Given the description of an element on the screen output the (x, y) to click on. 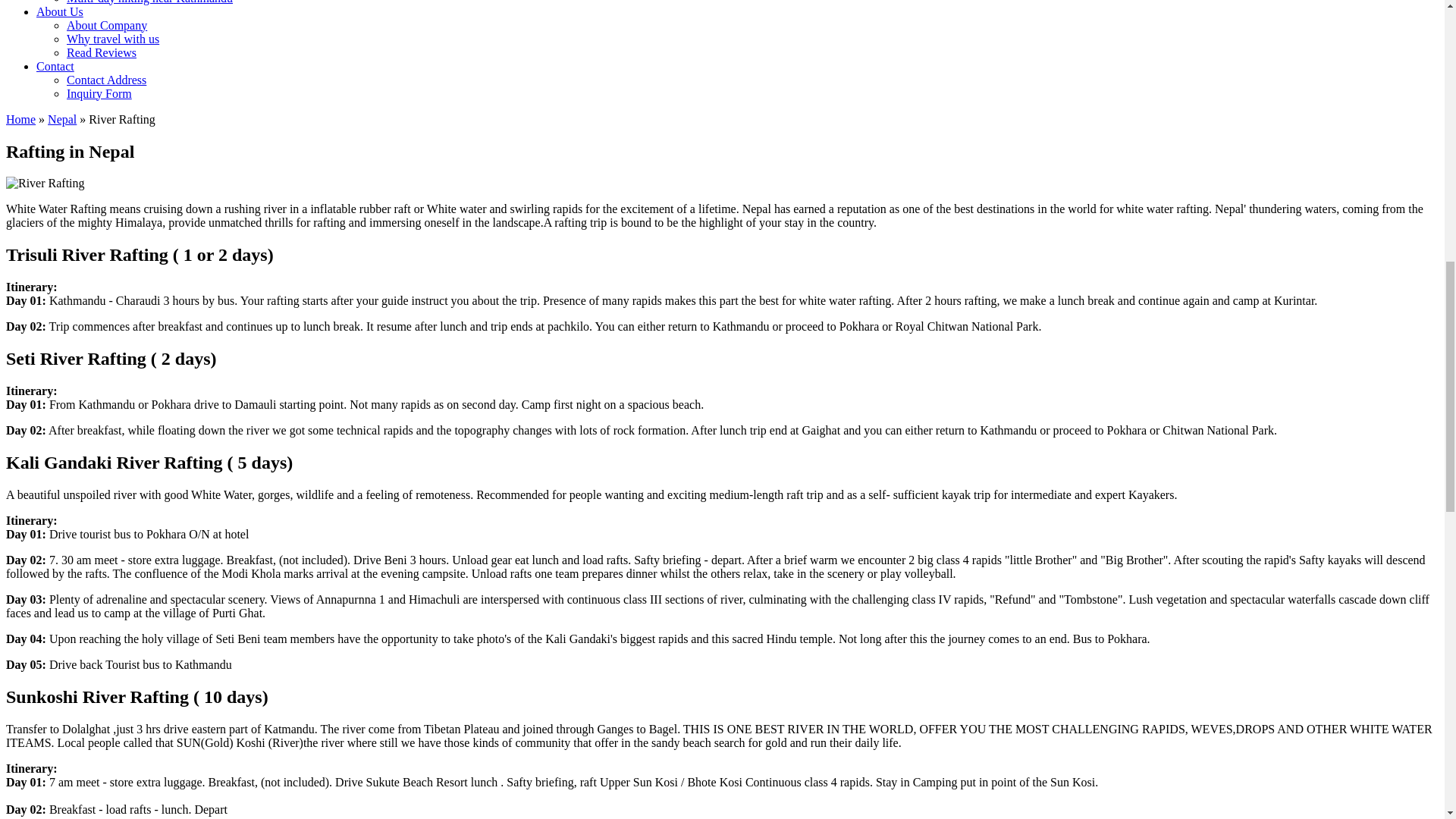
Nepal Travel and Tours (62, 119)
Hiking and Adventure Tours (19, 119)
